Given the description of an element on the screen output the (x, y) to click on. 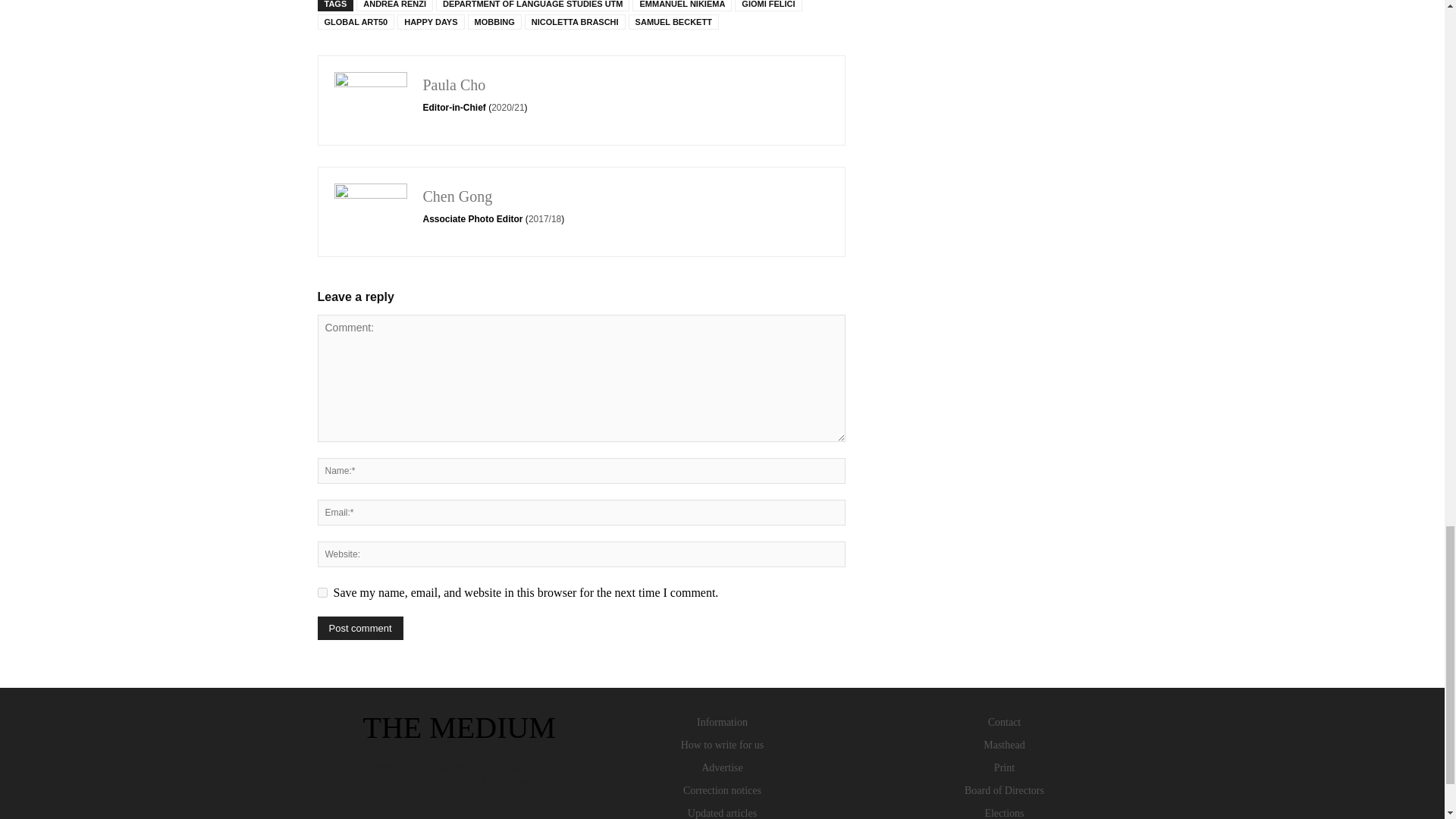
yes (321, 592)
Post comment (360, 627)
